Given the description of an element on the screen output the (x, y) to click on. 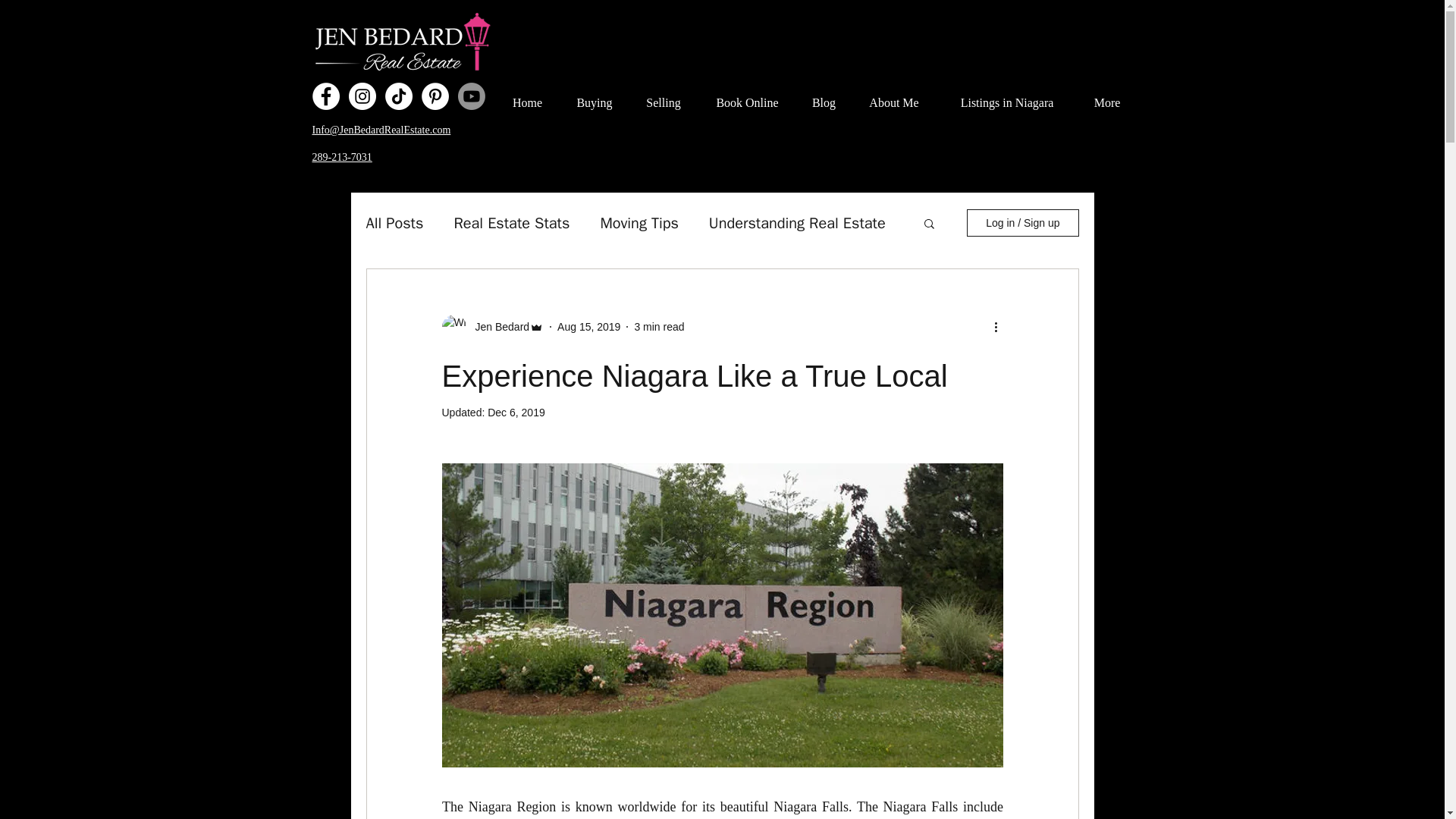
Understanding Real Estate (797, 222)
Aug 15, 2019 (588, 326)
Moving Tips (638, 222)
Listings in Niagara (1007, 95)
Dec 6, 2019 (515, 412)
All Posts (394, 222)
Selling (663, 95)
Home (527, 95)
Blog (823, 95)
Book Online (746, 95)
